Given the description of an element on the screen output the (x, y) to click on. 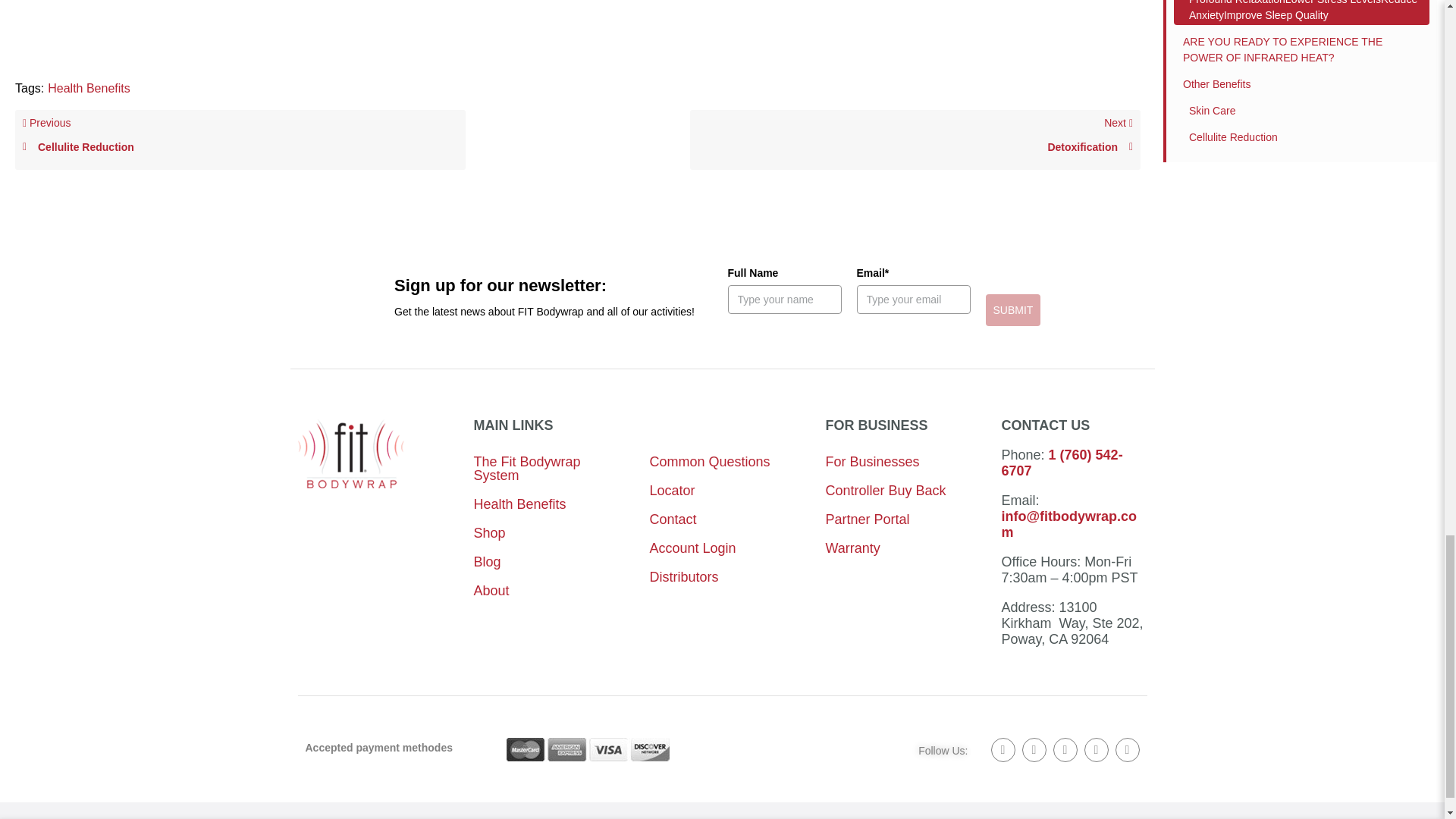
Cellulite Reduction (240, 147)
Detoxification (914, 147)
Health Benefits (915, 139)
